Given the description of an element on the screen output the (x, y) to click on. 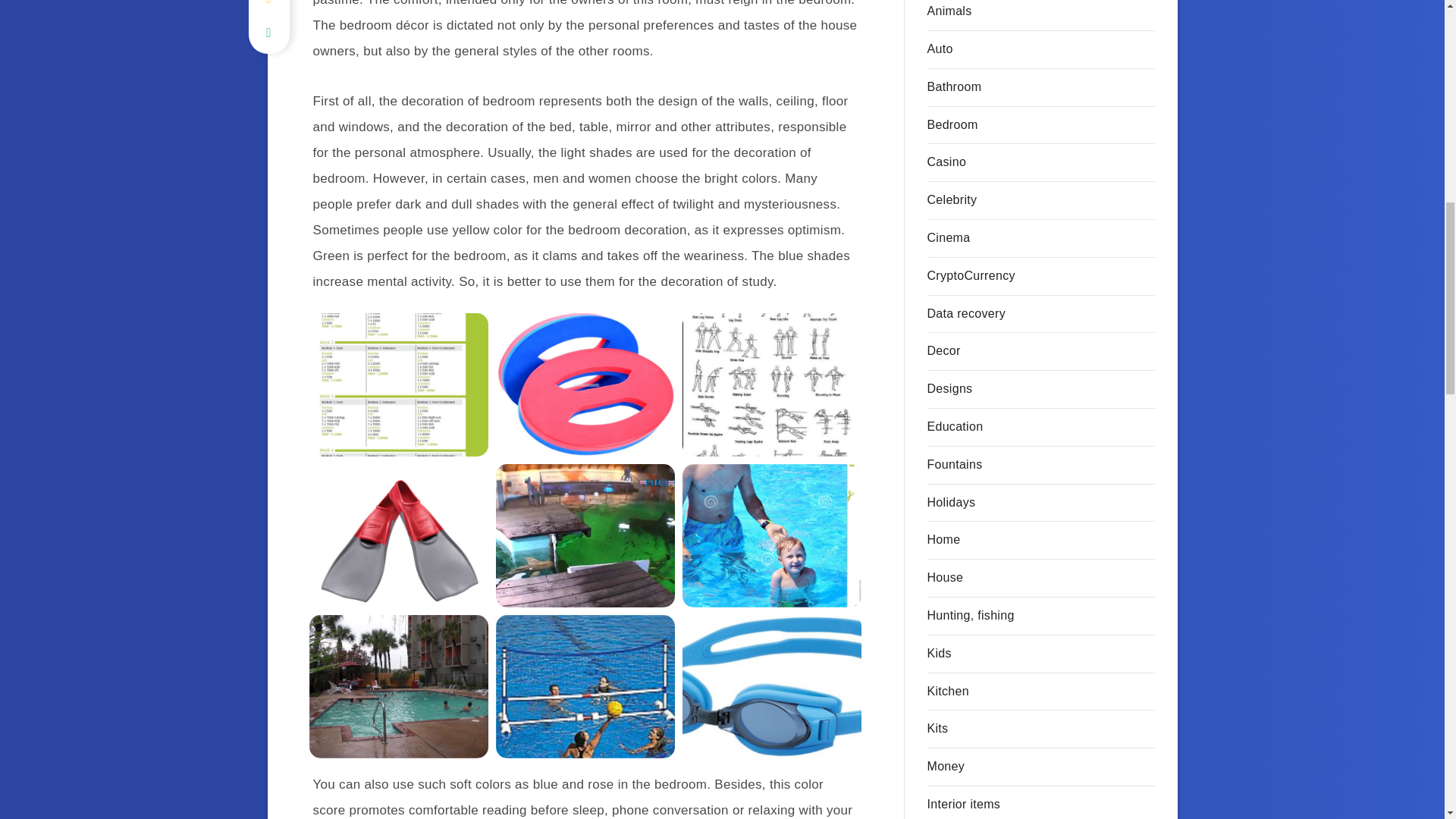
pool swimming drills for beginners (397, 384)
pool swimming fun (771, 535)
pool swimming gear (771, 686)
pool swimming fish (585, 535)
pool swimming games online (397, 686)
pool swimming games (585, 686)
pool swimming exercises (771, 384)
pool swimming fins (397, 535)
pool swimming exercise equipment (585, 384)
